Given the description of an element on the screen output the (x, y) to click on. 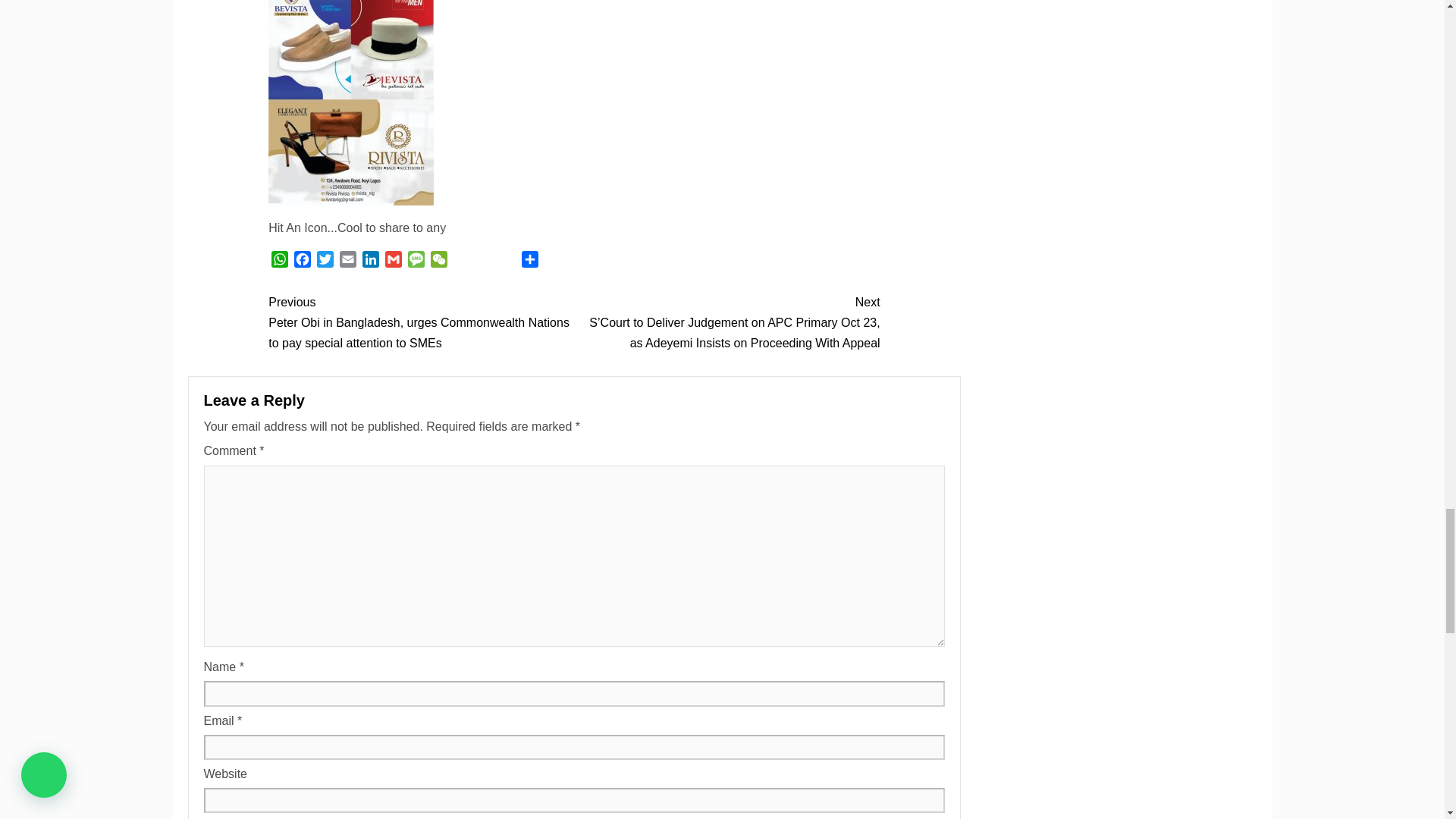
Message (416, 260)
WhatsApp (279, 260)
WeChat (438, 260)
Email (347, 260)
WhatsApp (279, 260)
LinkedIn (370, 260)
Facebook (302, 260)
Gmail (392, 260)
Twitter (325, 260)
